Given the description of an element on the screen output the (x, y) to click on. 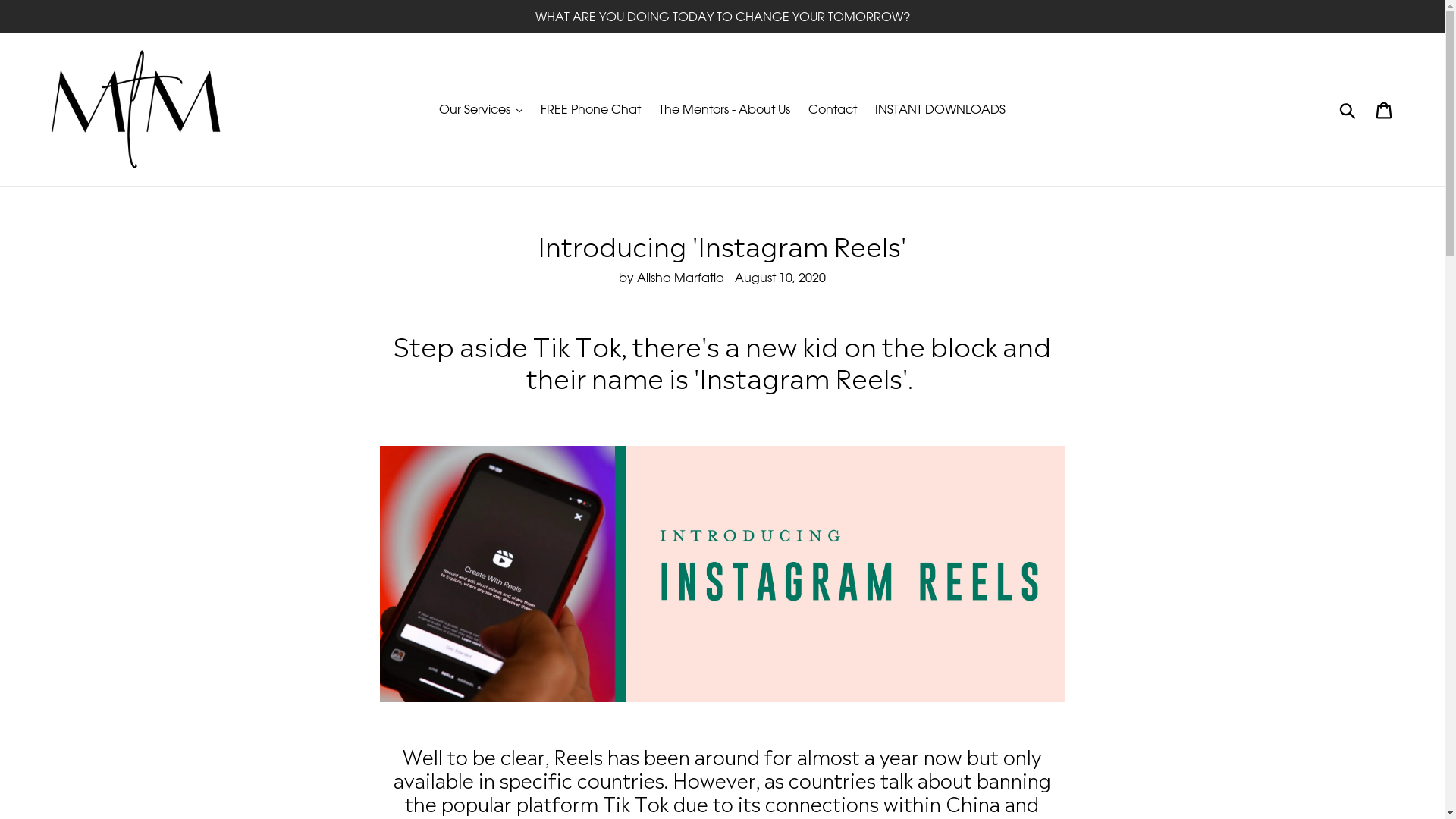
WHAT ARE YOU DOING TODAY TO CHANGE YOUR TOMORROW? Element type: text (722, 16)
Submit Element type: text (1348, 108)
FREE Phone Chat Element type: text (590, 108)
The Mentors - About Us Element type: text (724, 108)
Contact Element type: text (832, 108)
INSTANT DOWNLOADS Element type: text (940, 108)
Cart Element type: text (1384, 109)
